Given the description of an element on the screen output the (x, y) to click on. 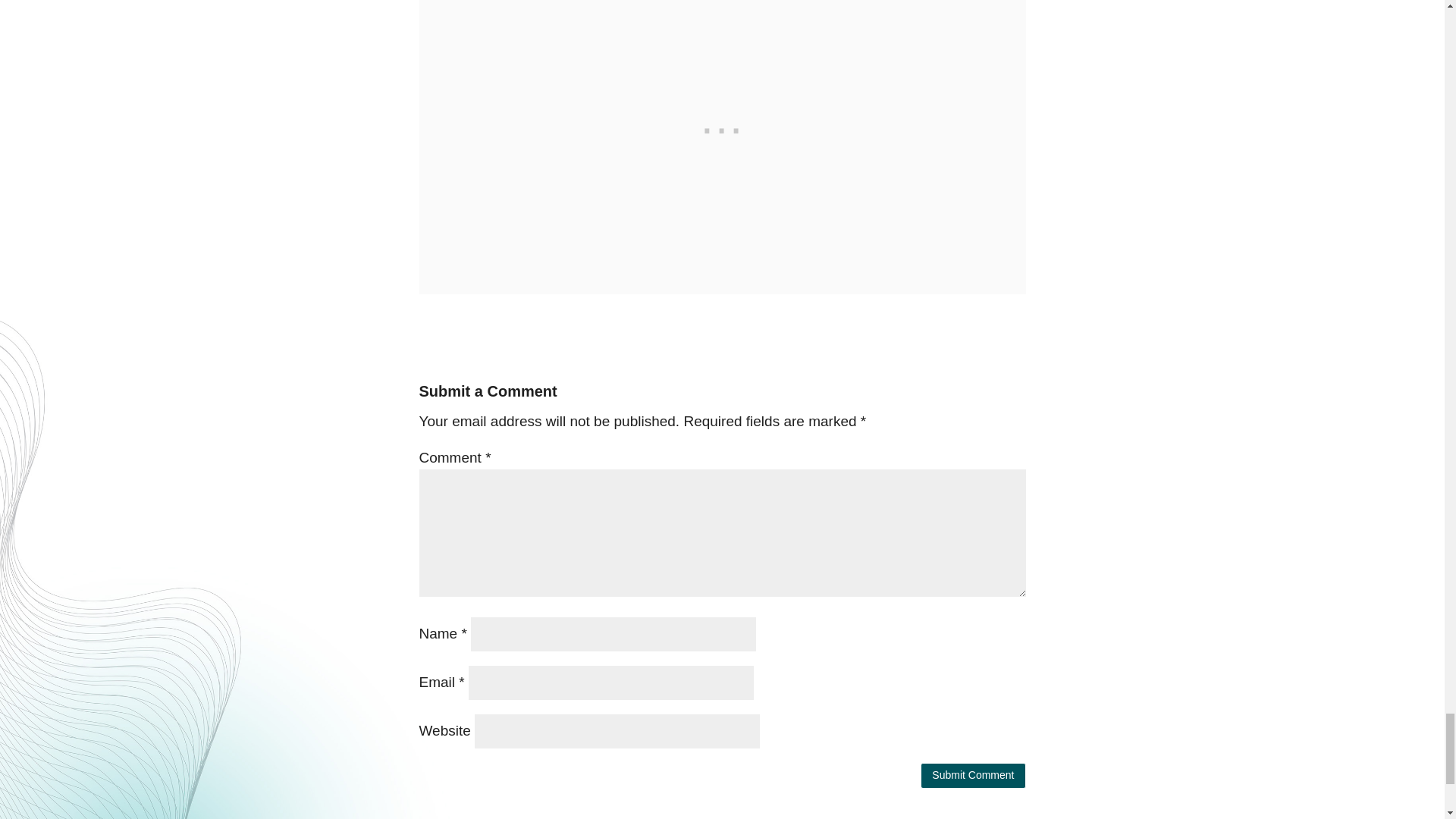
Submit Comment (972, 775)
Submit Comment (972, 775)
